Given the description of an element on the screen output the (x, y) to click on. 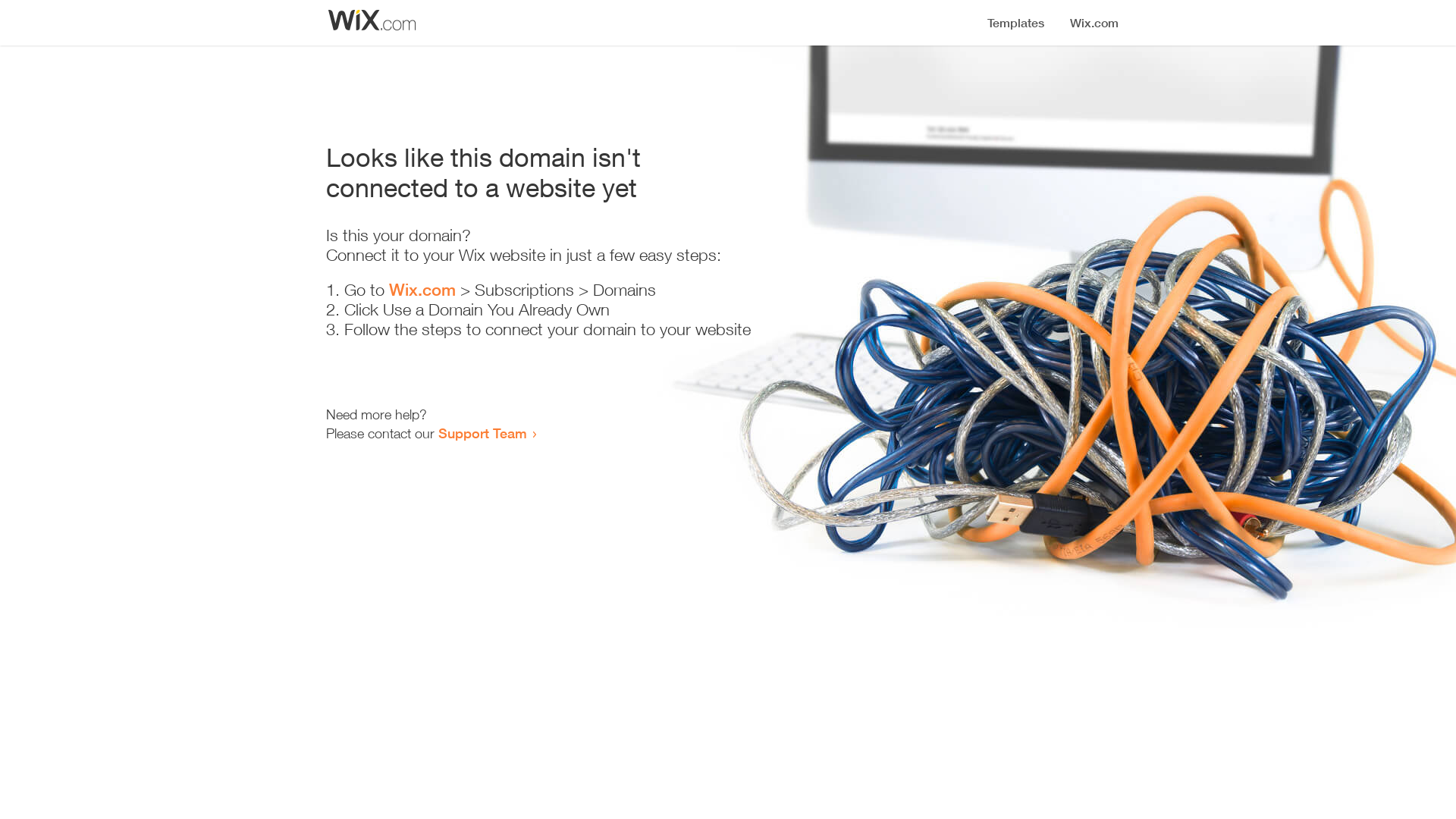
Wix.com Element type: text (422, 289)
Support Team Element type: text (482, 432)
